Given the description of an element on the screen output the (x, y) to click on. 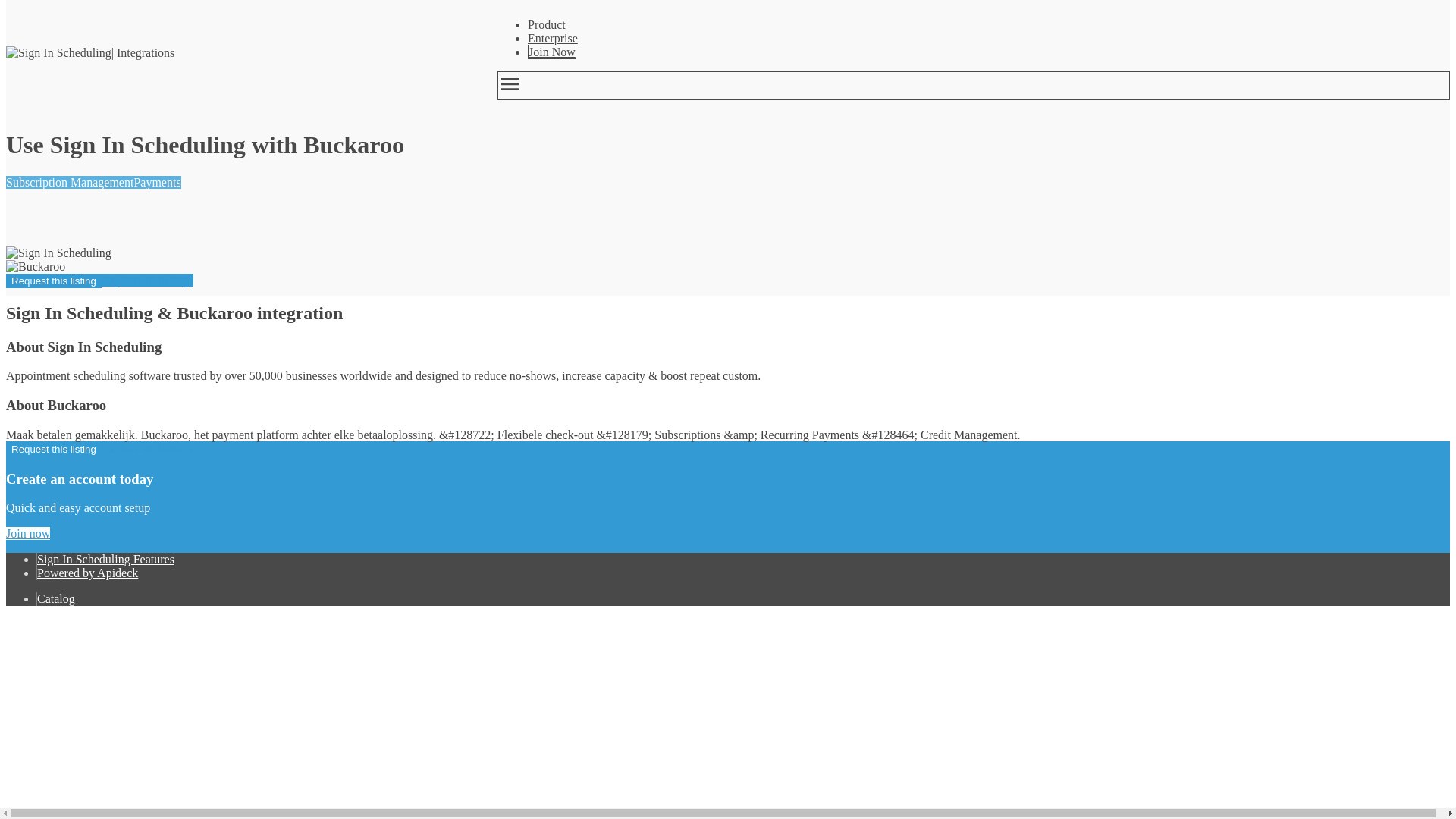
Buckaroo (35, 266)
Powered by Apideck (87, 572)
Enterprise (552, 38)
Sign In Scheduling (58, 253)
Sign In Scheduling (58, 52)
Sign In Scheduling Features (105, 558)
Explore all listings (147, 279)
Join Now (551, 51)
Join now (27, 533)
Product (546, 24)
Request this listing (53, 449)
Request this listing (53, 280)
Catalog (56, 598)
Explore all listings (147, 448)
